Given the description of an element on the screen output the (x, y) to click on. 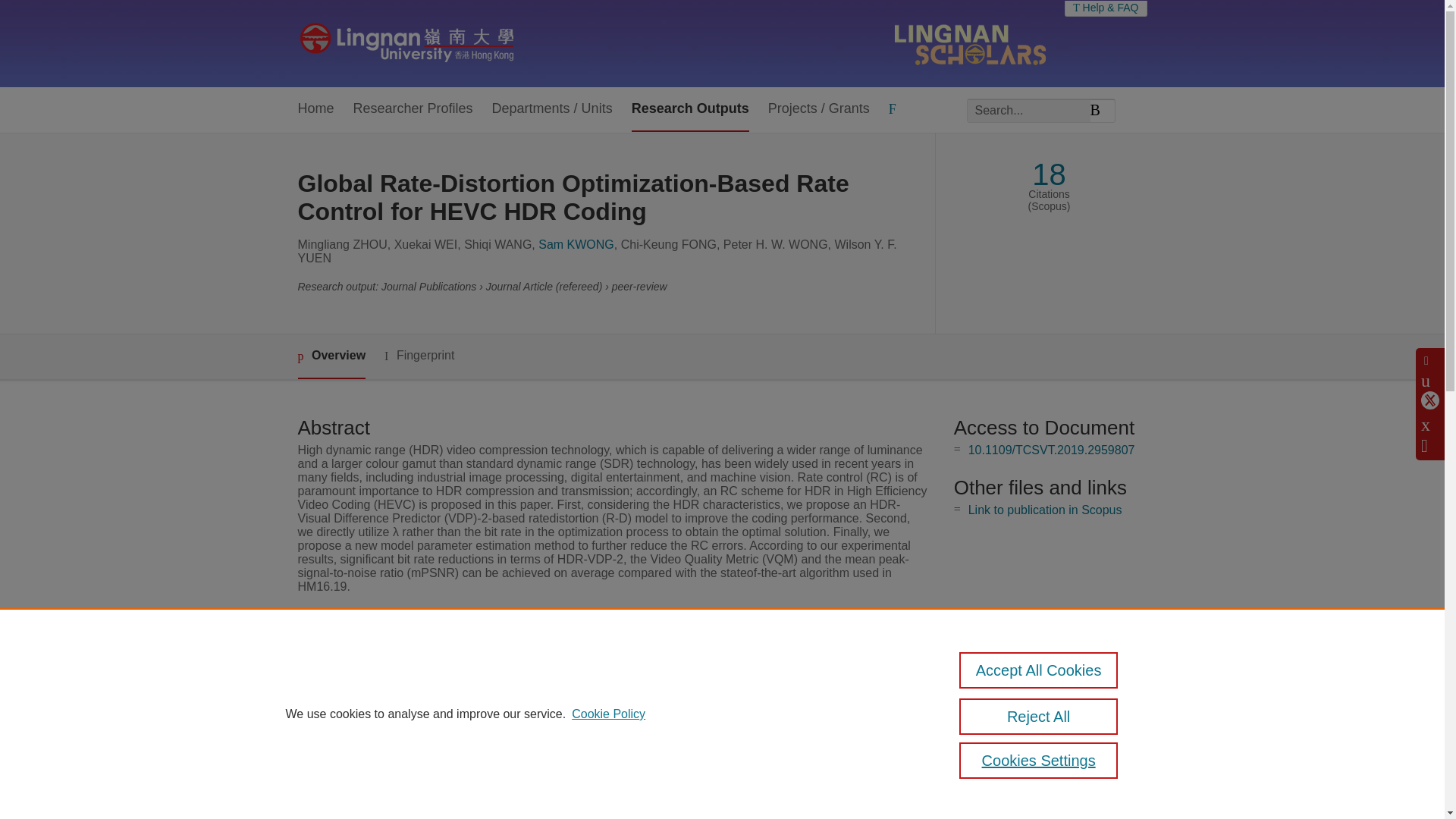
Overview (331, 356)
Researcher Profiles (413, 108)
Fingerprint (419, 355)
Lingnan Scholars Home (406, 43)
Link to publication in Scopus (1045, 509)
18 (1048, 174)
Research Outputs (690, 108)
Sam KWONG (576, 244)
